Given the description of an element on the screen output the (x, y) to click on. 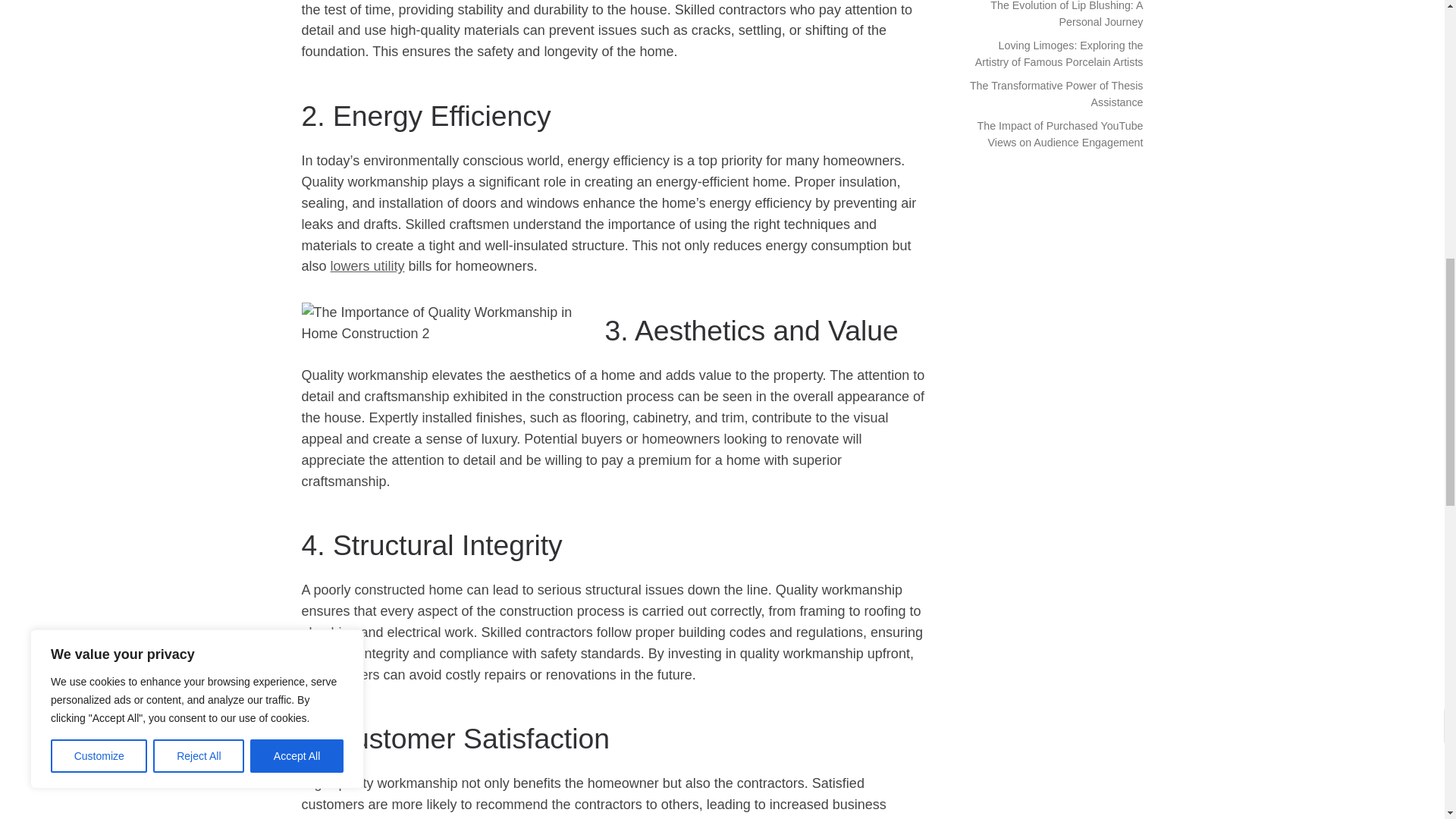
lowers utility (367, 265)
